Given the description of an element on the screen output the (x, y) to click on. 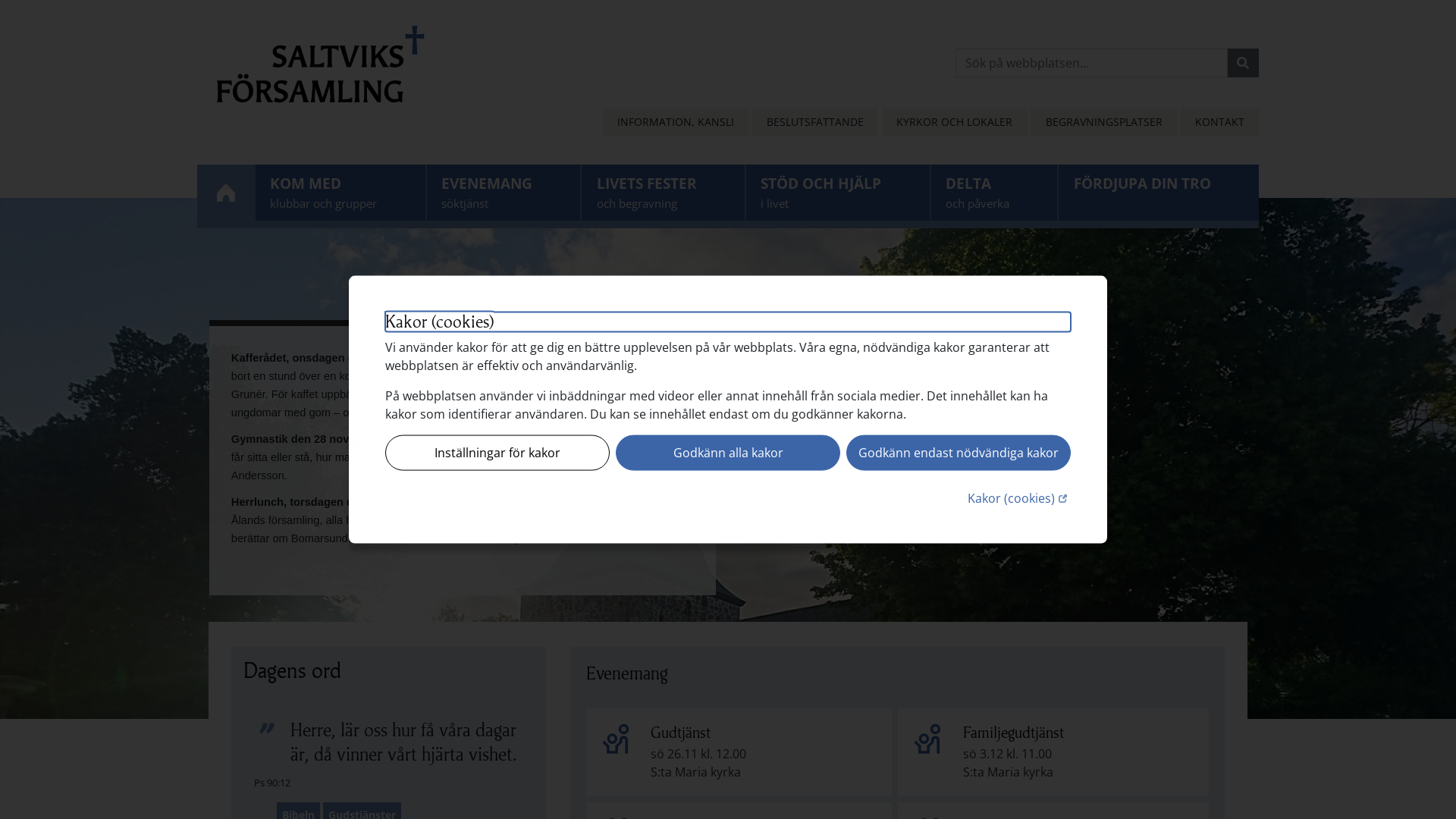
BEGRAVNINGSPLATSER Element type: text (1103, 121)
Barn och familj Element type: hover (928, 738)
BESLUTSFATTANDE Element type: text (815, 121)
KOM MED
klubbar och grupper Element type: text (340, 192)
KYRKOR OCH LOKALER Element type: text (953, 121)
LIVETS FESTER
och begravning Element type: text (662, 192)
KONTAKT Element type: text (1219, 121)
INFORMATION, KANSLI Element type: text (675, 121)
Barn och familj Element type: hover (616, 738)
